Given the description of an element on the screen output the (x, y) to click on. 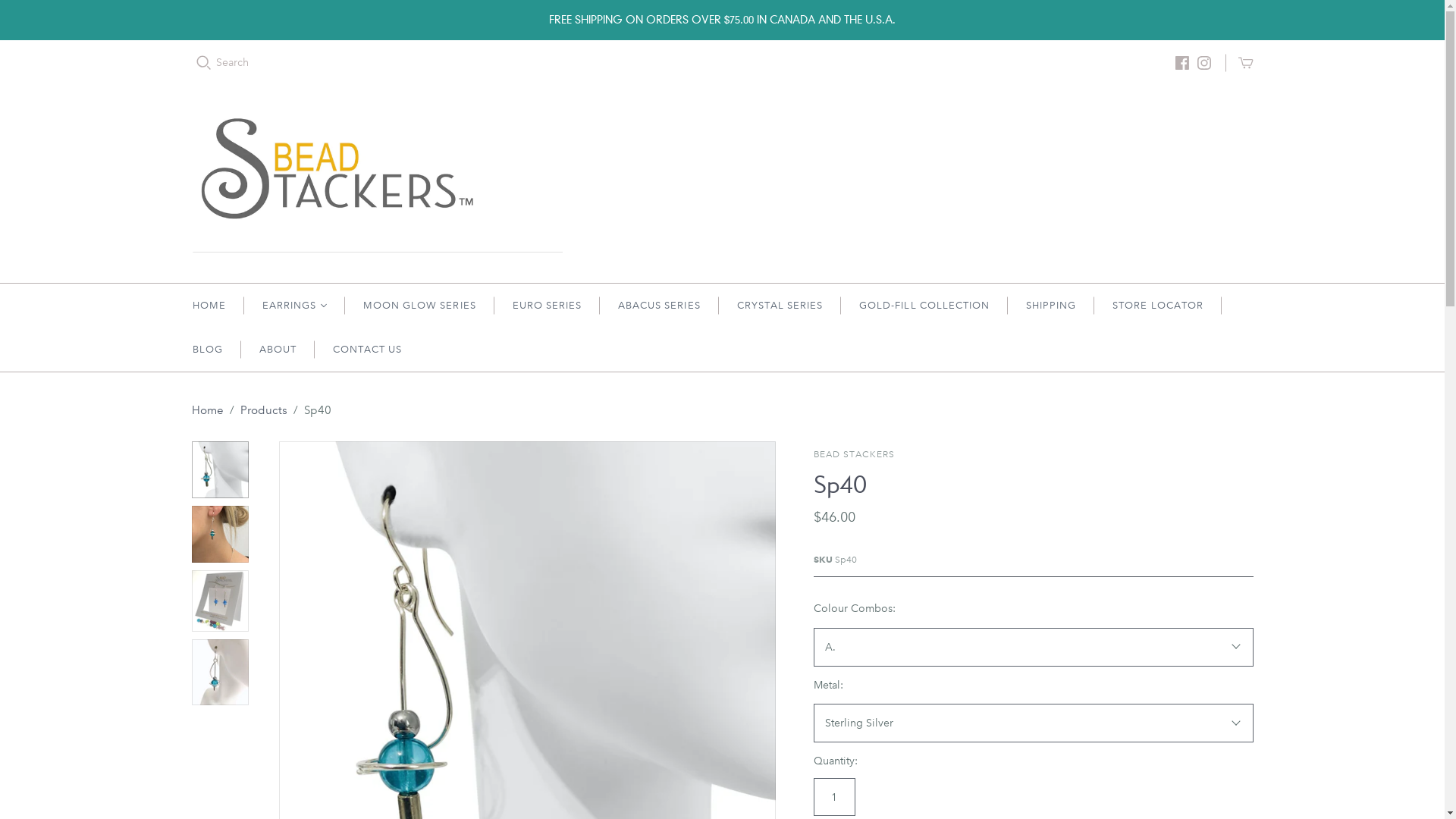
HOME Element type: text (209, 305)
SHIPPING Element type: text (1050, 305)
CRYSTAL SERIES Element type: text (779, 305)
CONTACT US Element type: text (367, 349)
MOON GLOW SERIES Element type: text (419, 305)
EURO SERIES Element type: text (546, 305)
STORE LOCATOR Element type: text (1157, 305)
ABACUS SERIES Element type: text (658, 305)
FREE SHIPPING ON ORDERS OVER $75.00 IN CANADA AND THE U.S.A. Element type: text (722, 20)
GOLD-FILL COLLECTION Element type: text (923, 305)
BLOG Element type: text (207, 349)
EARRINGS Element type: text (294, 305)
Products Element type: text (262, 410)
ABOUT Element type: text (277, 349)
Home Element type: text (206, 410)
